Given the description of an element on the screen output the (x, y) to click on. 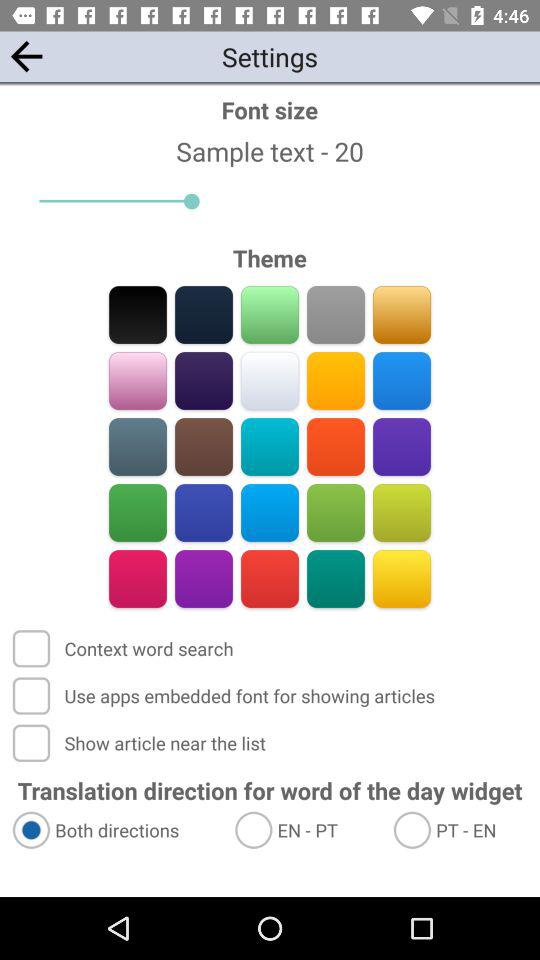
color selection (335, 314)
